Given the description of an element on the screen output the (x, y) to click on. 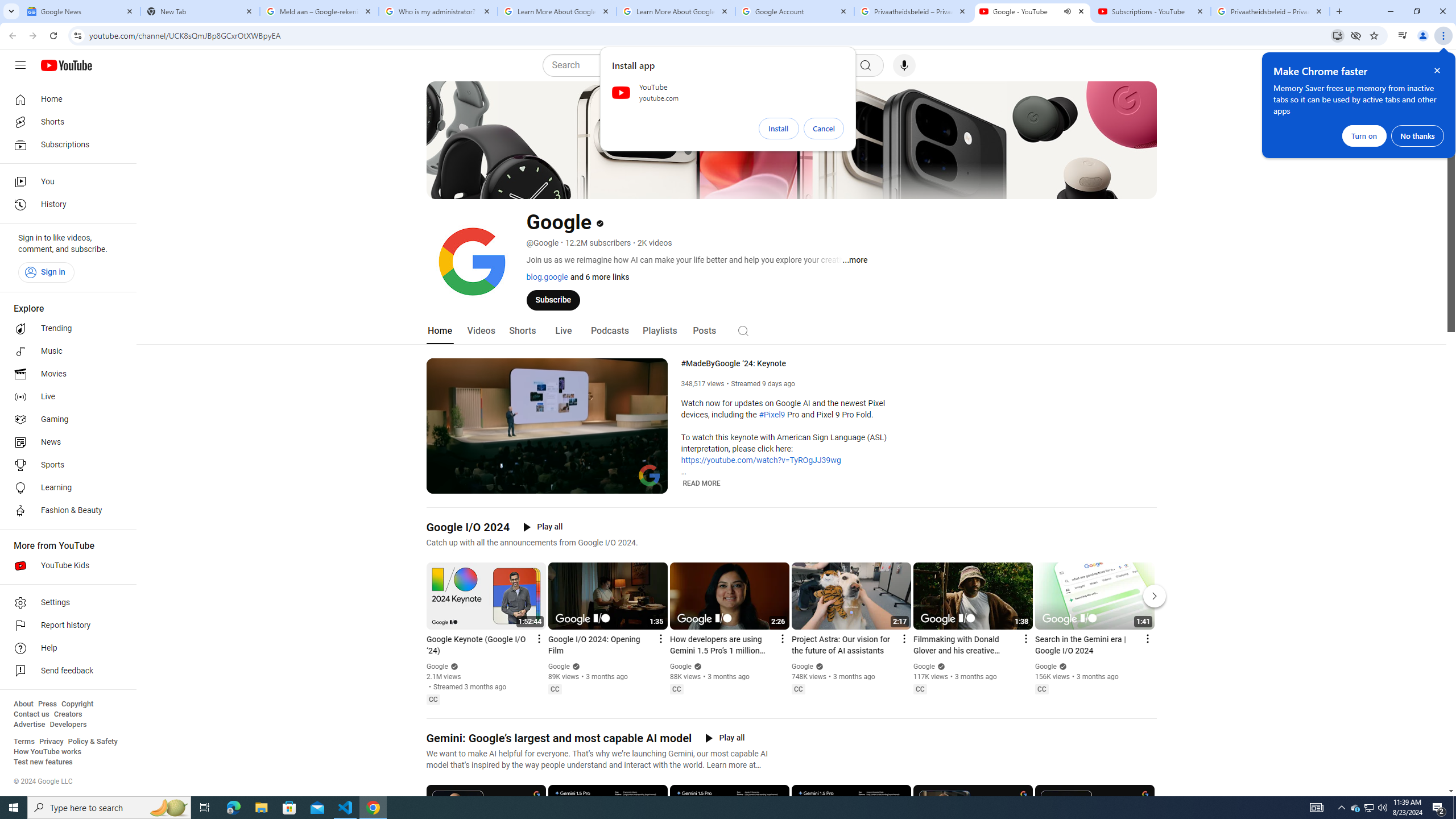
Fashion & Beauty (64, 510)
Who is my administrator? - Google Account Help (438, 11)
Contact us (31, 714)
Live (64, 396)
Shorts (521, 330)
Cancel (823, 128)
Search with your voice (903, 65)
#Pixel9 (771, 414)
Trending (64, 328)
